Given the description of an element on the screen output the (x, y) to click on. 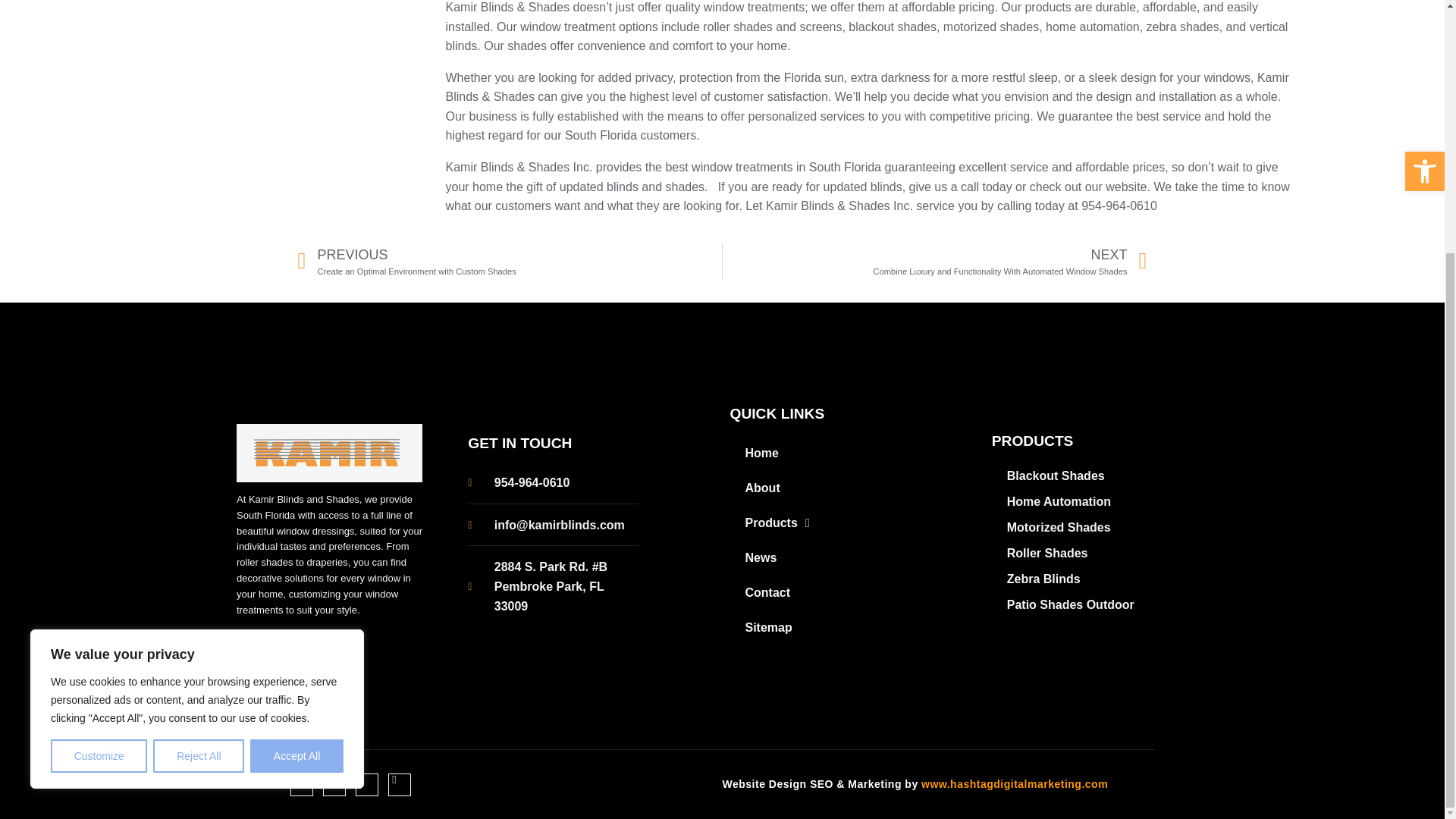
Reject All (198, 398)
Customize (98, 398)
Accept All (296, 398)
